Given the description of an element on the screen output the (x, y) to click on. 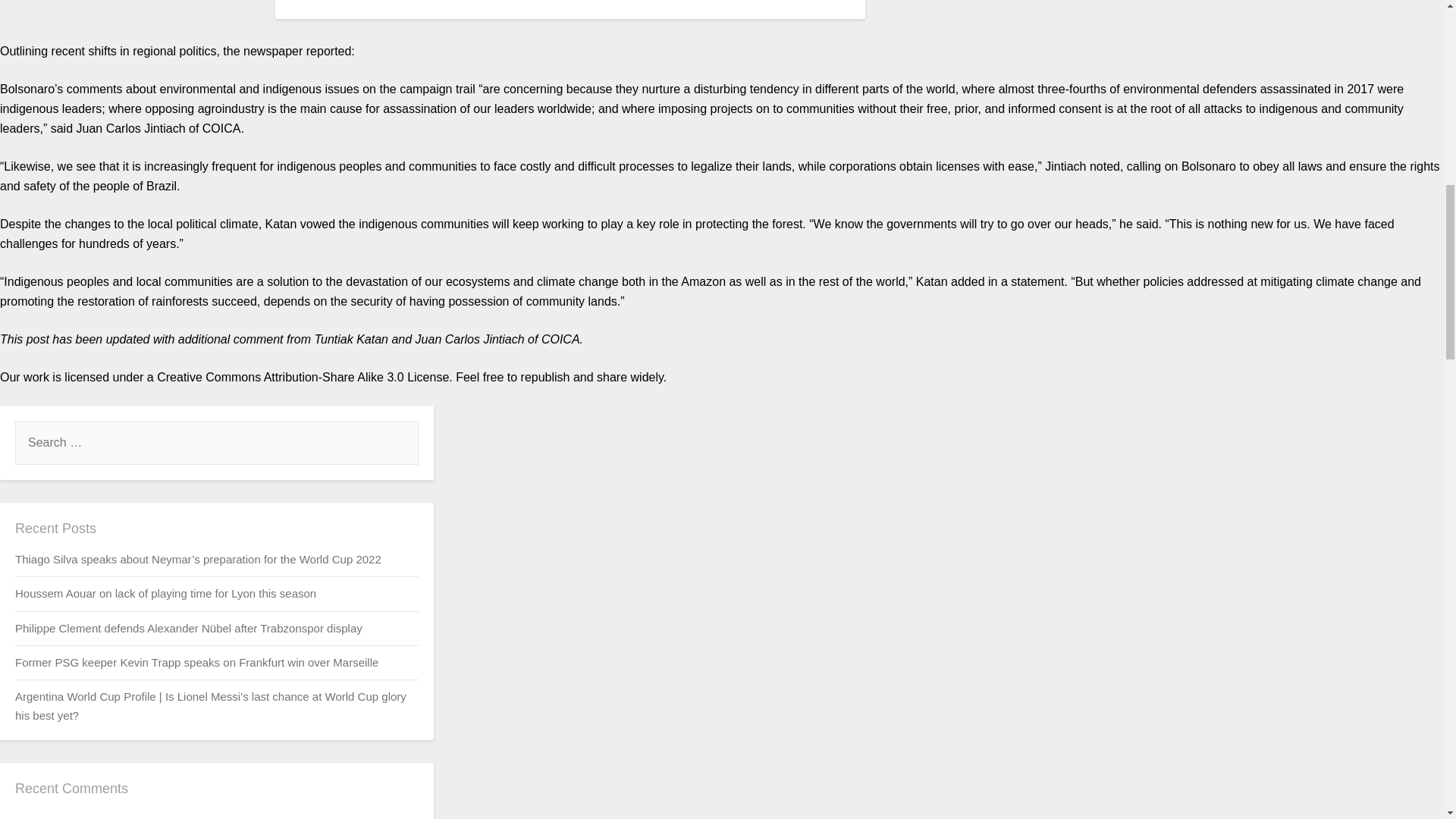
Houssem Aouar on lack of playing time for Lyon this season (164, 593)
